Given the description of an element on the screen output the (x, y) to click on. 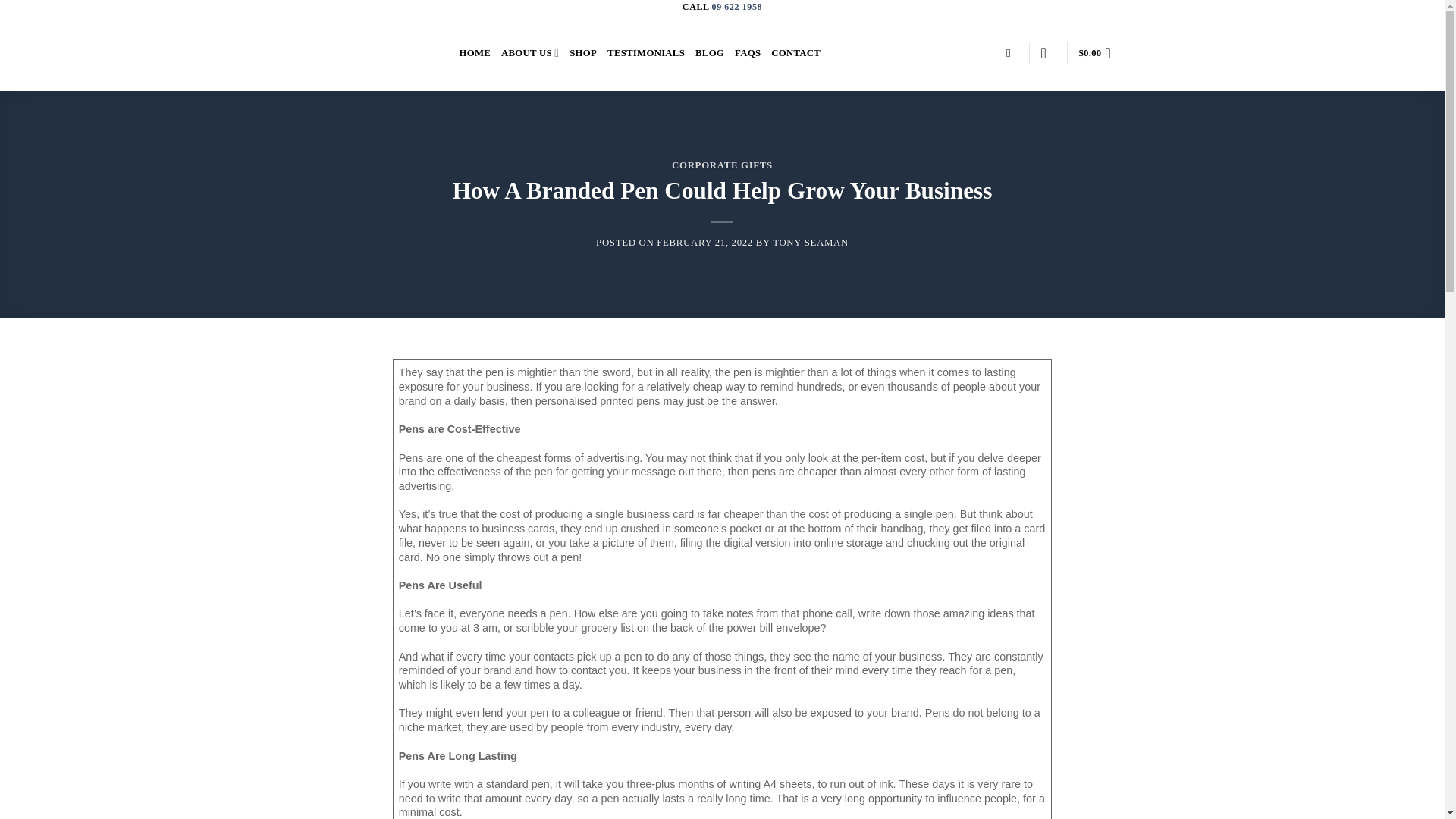
BLOG (709, 52)
SHOP (582, 52)
CORPORATE GIFTS (722, 164)
ABOUT US (529, 52)
09 622 1958 (736, 6)
HOME (476, 52)
FAQS (747, 52)
TESTIMONIALS (645, 52)
FEBRUARY 21, 2022 (704, 242)
Cart (1098, 52)
TONY SEAMAN (810, 242)
CONTACT (796, 52)
